Given the description of an element on the screen output the (x, y) to click on. 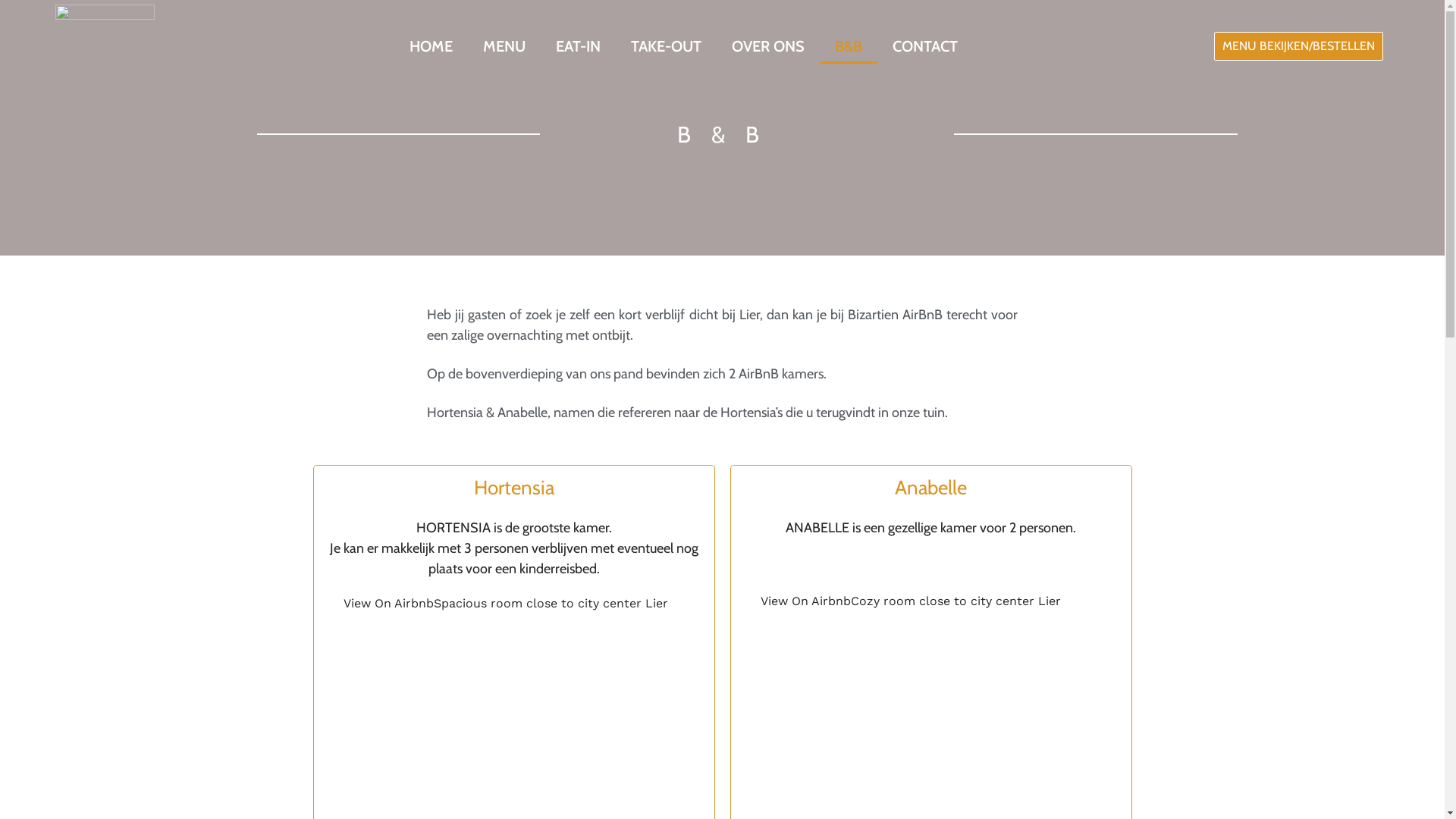
MENU BEKIJKEN/BESTELLEN Element type: text (1298, 45)
B&B Element type: text (848, 45)
OVER ONS Element type: text (767, 45)
MENU Element type: text (503, 45)
TAKE-OUT Element type: text (665, 45)
View On Airbnb Element type: text (804, 600)
View On Airbnb Element type: text (387, 603)
Cozy room close to city center Lier Element type: text (955, 600)
EAT-IN Element type: text (577, 45)
HOME Element type: text (430, 45)
CONTACT Element type: text (924, 45)
Spacious room close to city center Lier Element type: text (550, 603)
